Given the description of an element on the screen output the (x, y) to click on. 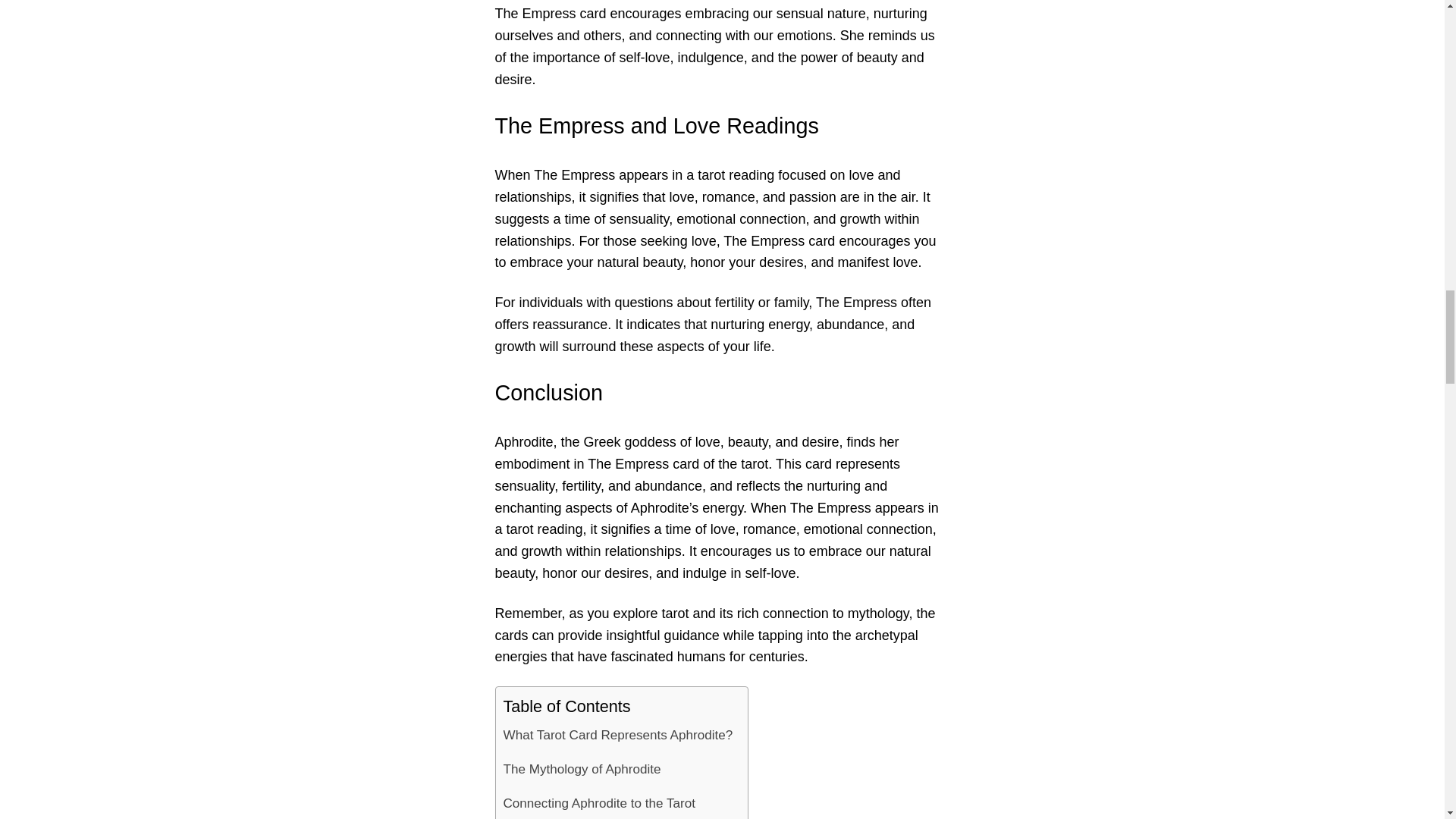
The Mythology of Aphrodite (582, 769)
Connecting Aphrodite to the Tarot (599, 802)
What Tarot Card Represents Aphrodite? (618, 735)
What Tarot Card Represents Aphrodite? (618, 735)
The Mythology of Aphrodite (582, 769)
Connecting Aphrodite to the Tarot (599, 802)
